Given the description of an element on the screen output the (x, y) to click on. 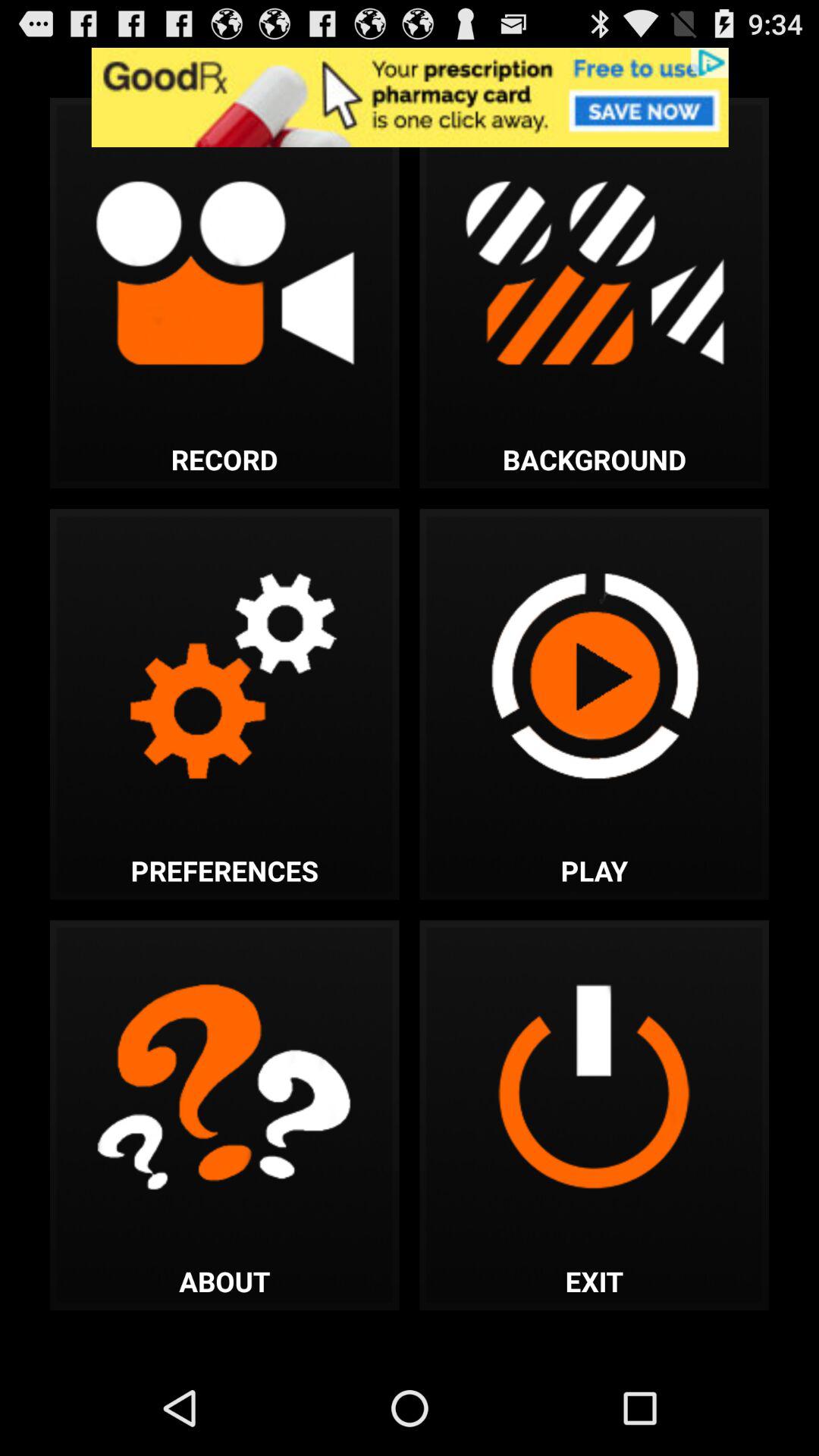
advertisement (409, 97)
